Given the description of an element on the screen output the (x, y) to click on. 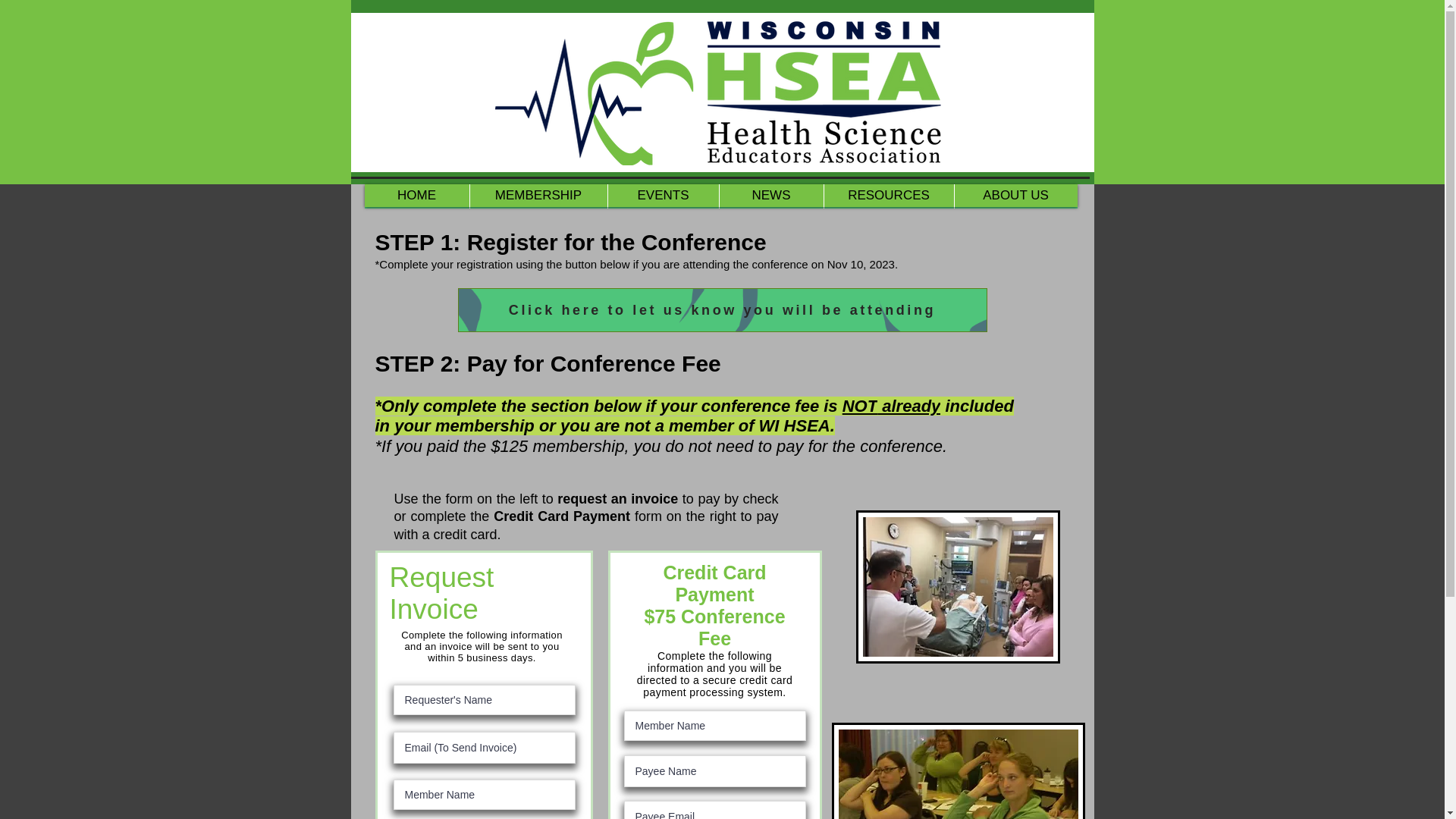
NEWS (771, 195)
ABOUT US (1015, 196)
HOME (416, 196)
RESOURCES (888, 196)
RESOURCES (888, 195)
Click here to let us know you will be attending (722, 310)
ABOUT US (1015, 195)
NEWS (771, 196)
TRIDesign - HSEA Logo - WISCONSIN copy.p (722, 91)
MEMBERSHIP (537, 196)
MEMBERSHIP (537, 195)
HOME (416, 195)
